Given the description of an element on the screen output the (x, y) to click on. 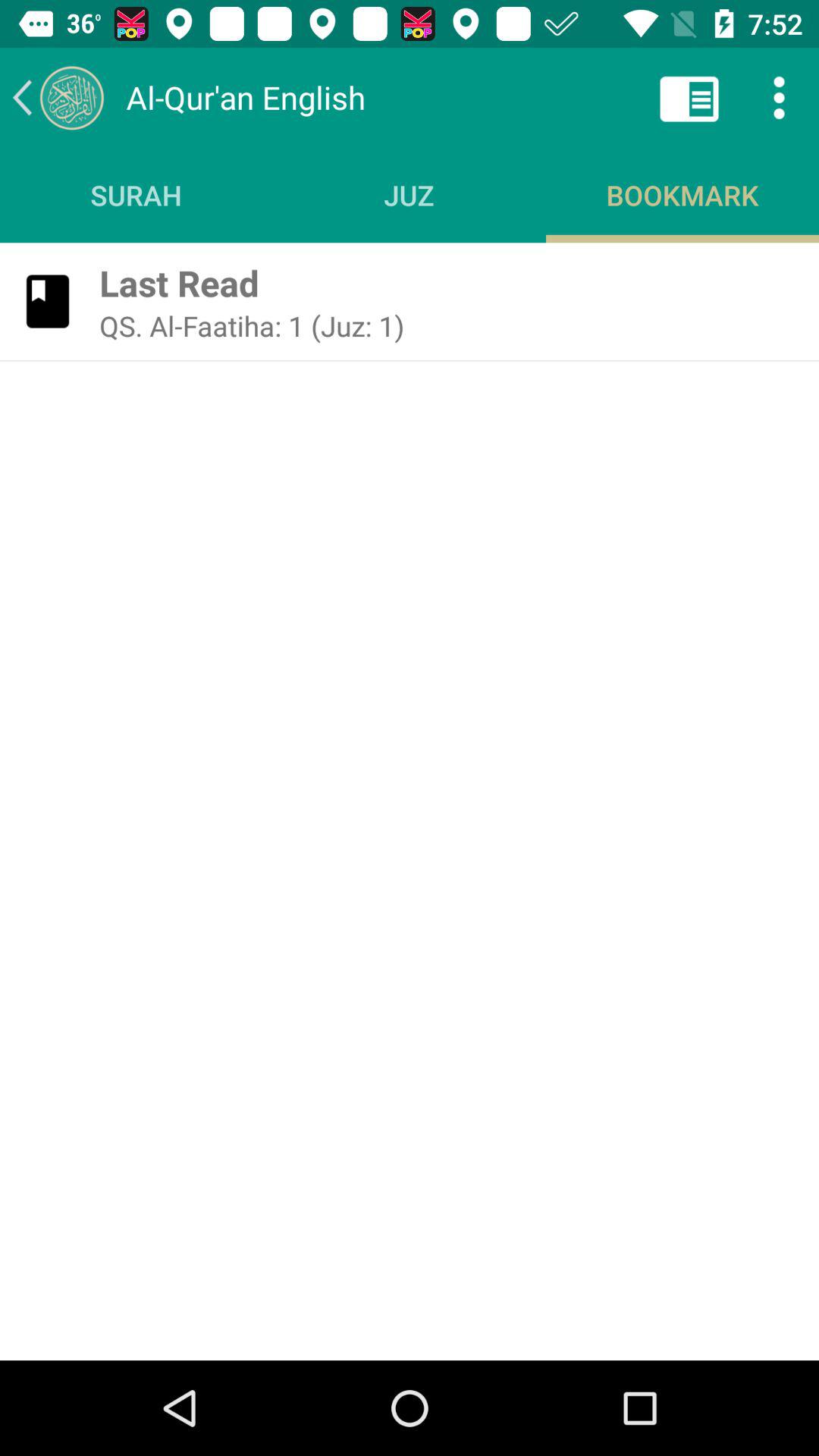
press the item to the right of the al qur an item (689, 97)
